Given the description of an element on the screen output the (x, y) to click on. 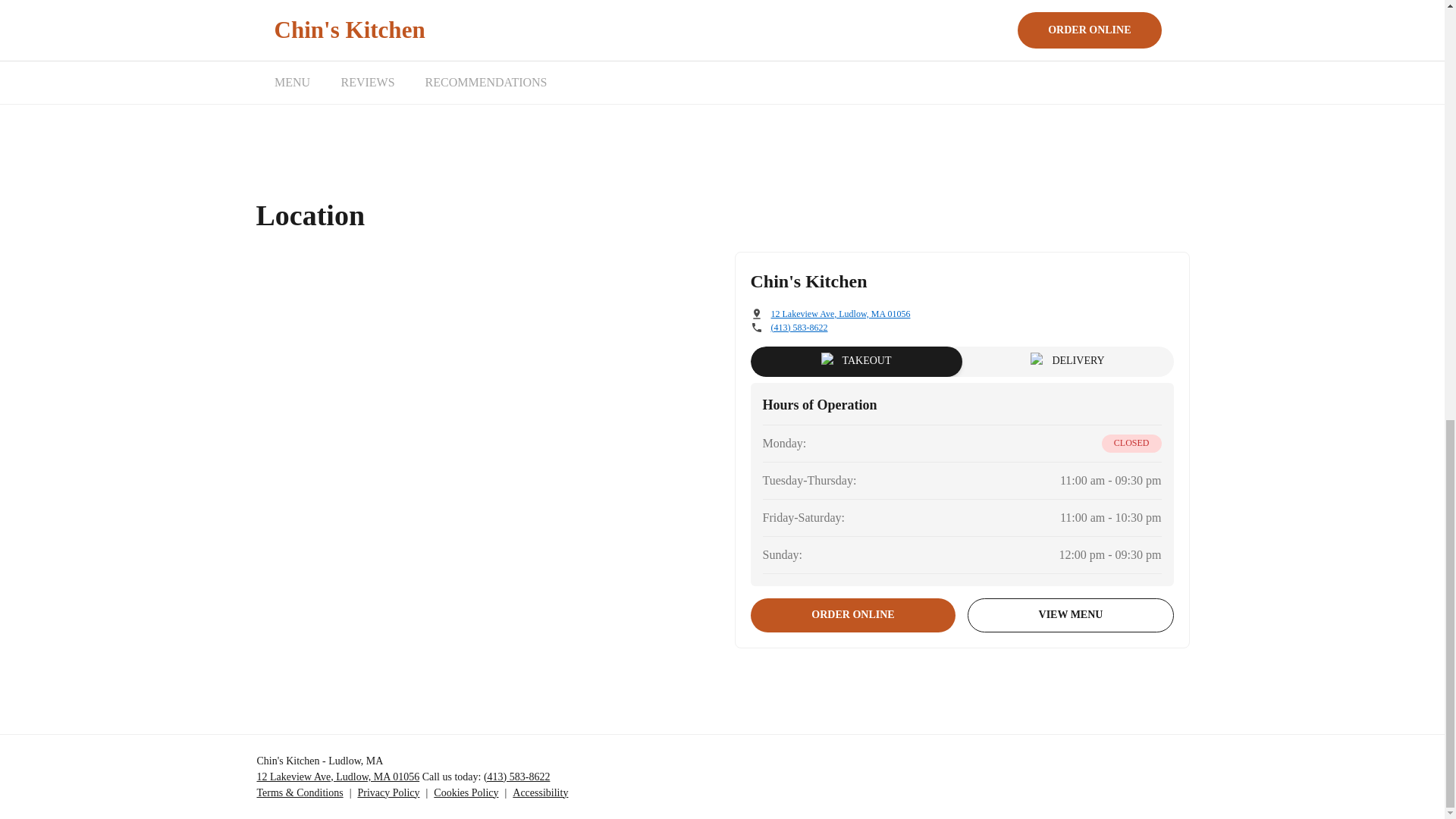
VIEW MENU (1070, 615)
12 Lakeview Ave, Ludlow, MA 01056 (337, 776)
12 Lakeview Ave, Ludlow, MA 01056 (840, 314)
Accessibility (539, 792)
Cookies Policy (465, 792)
ORDER ONLINE (853, 615)
Privacy Policy (387, 792)
